Given the description of an element on the screen output the (x, y) to click on. 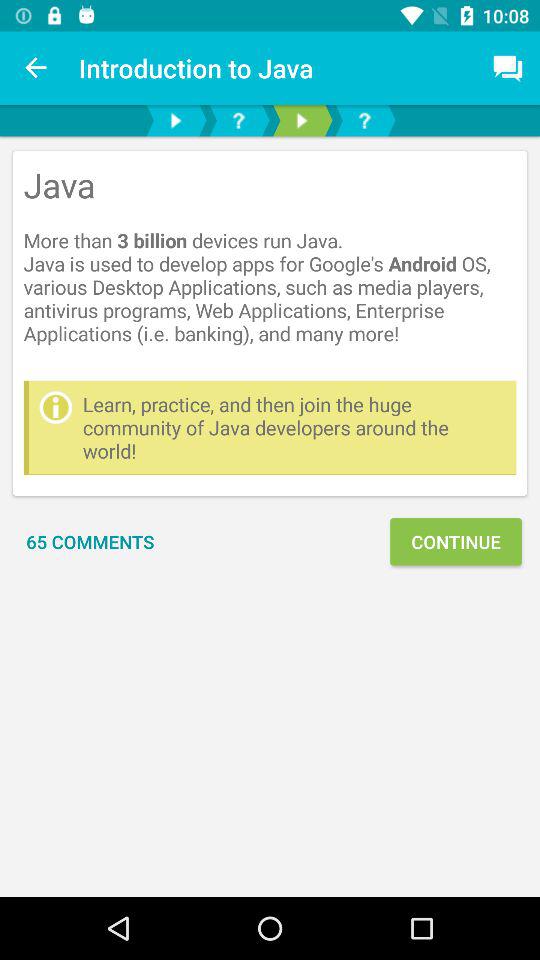
play lesson (175, 120)
